Given the description of an element on the screen output the (x, y) to click on. 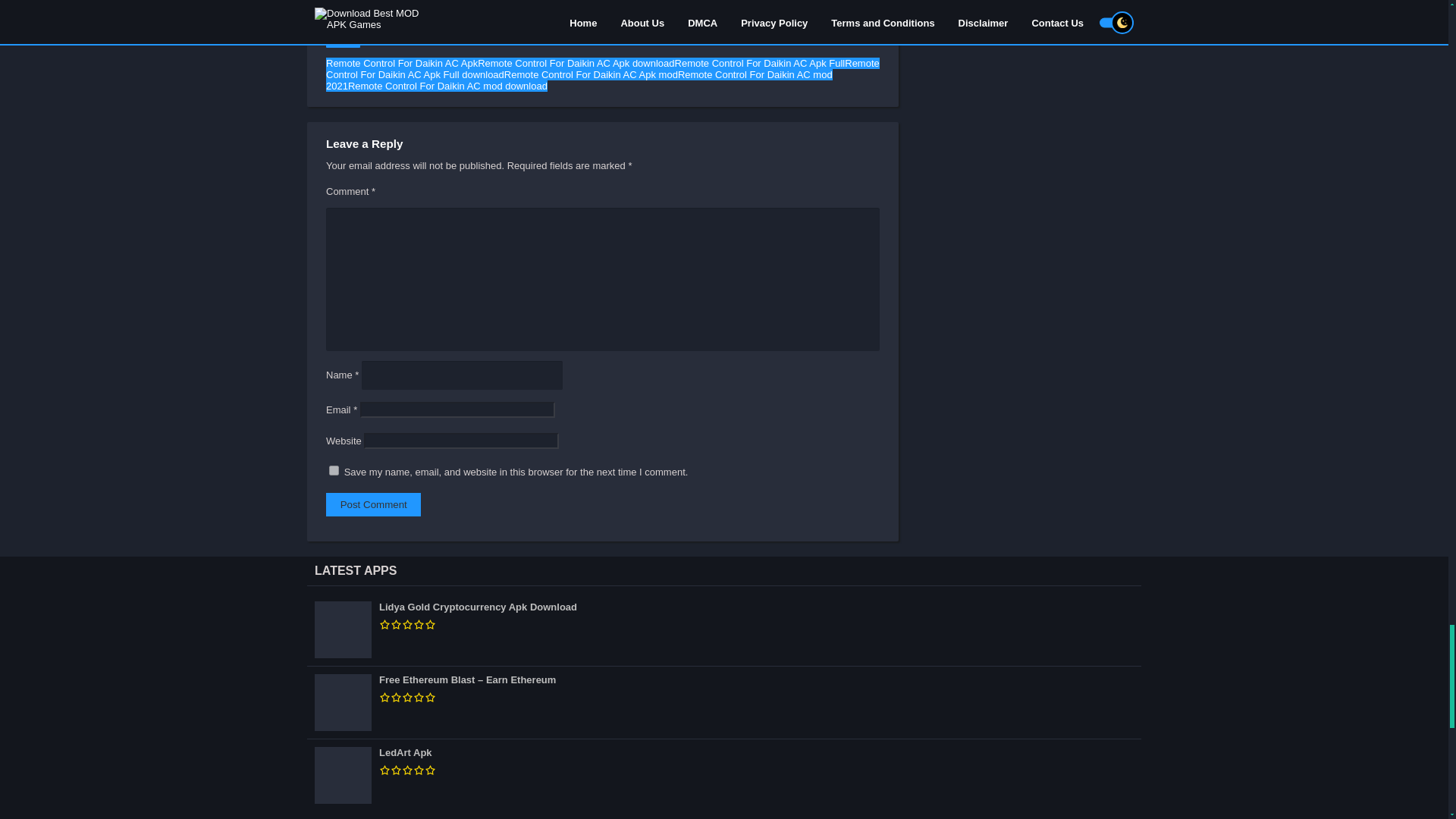
Remote Control For Daikin AC Apk (401, 62)
yes (334, 470)
Remote Control For Daikin AC Apk download (575, 62)
Post Comment (373, 504)
Remote Control For Daikin AC Apk Full (760, 62)
